Given the description of an element on the screen output the (x, y) to click on. 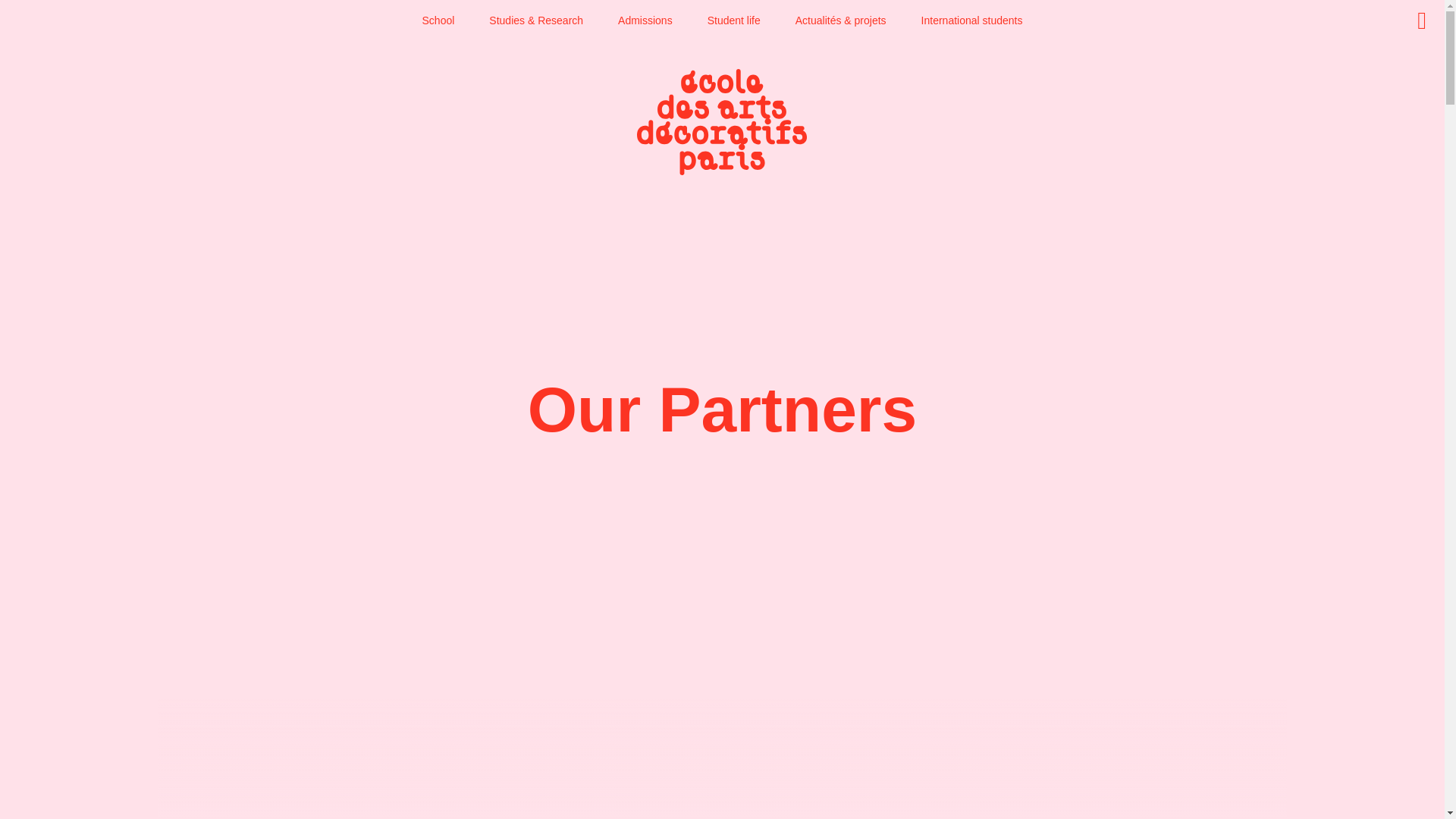
School (437, 20)
